Given the description of an element on the screen output the (x, y) to click on. 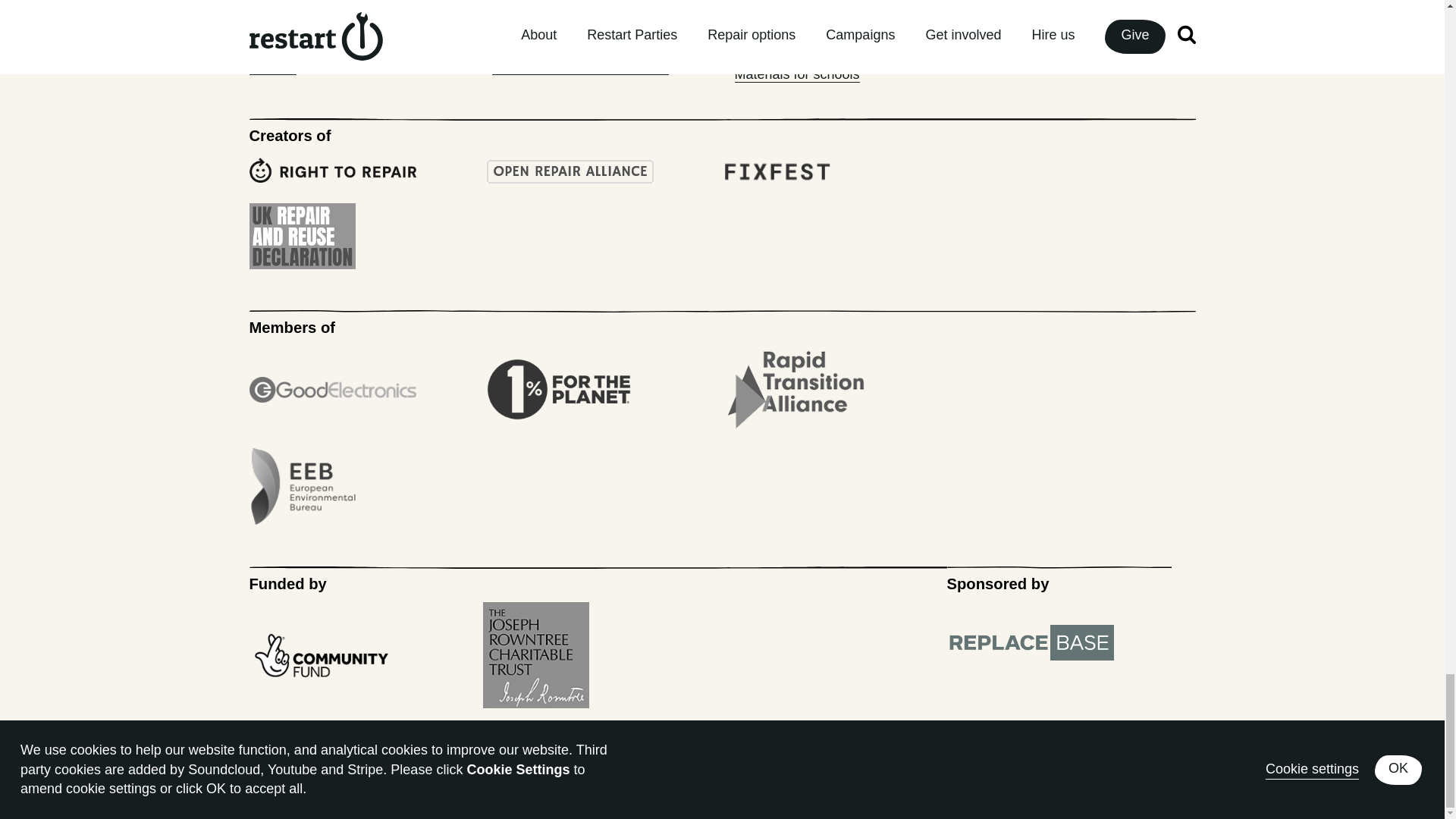
London repair directory (561, 41)
Data and privacy policy (319, 41)
Community guidelines (559, 14)
Donate your computer locally (580, 66)
Jobs (263, 14)
Contact (271, 66)
